Given the description of an element on the screen output the (x, y) to click on. 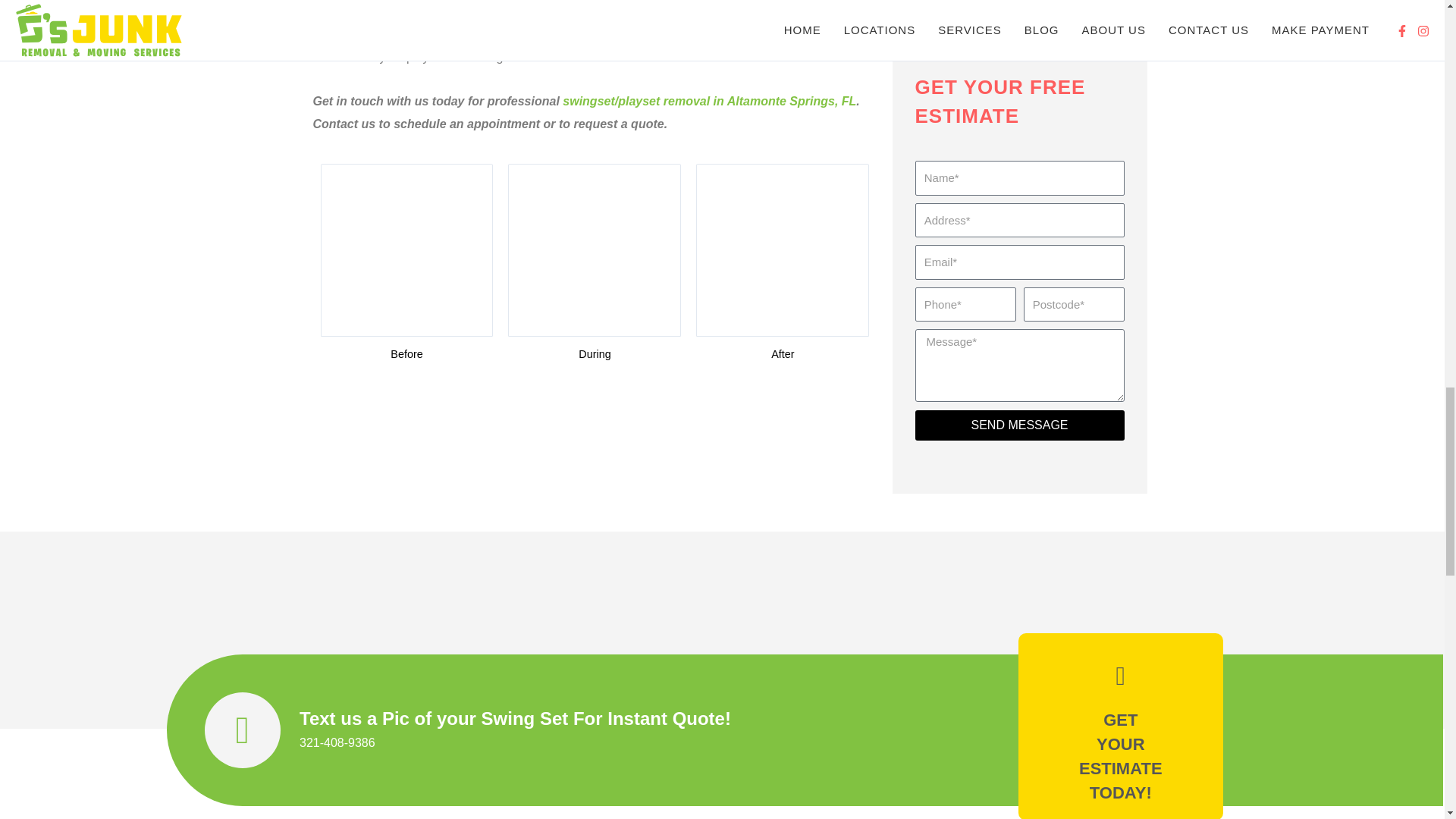
Swing Set Removal Altamonte Springs, FL (407, 249)
321-408-9386 (337, 742)
Swing Set Removal Altamonte Springs, FL (593, 249)
Swing Set Removal Altamonte Springs, FL (782, 249)
